Given the description of an element on the screen output the (x, y) to click on. 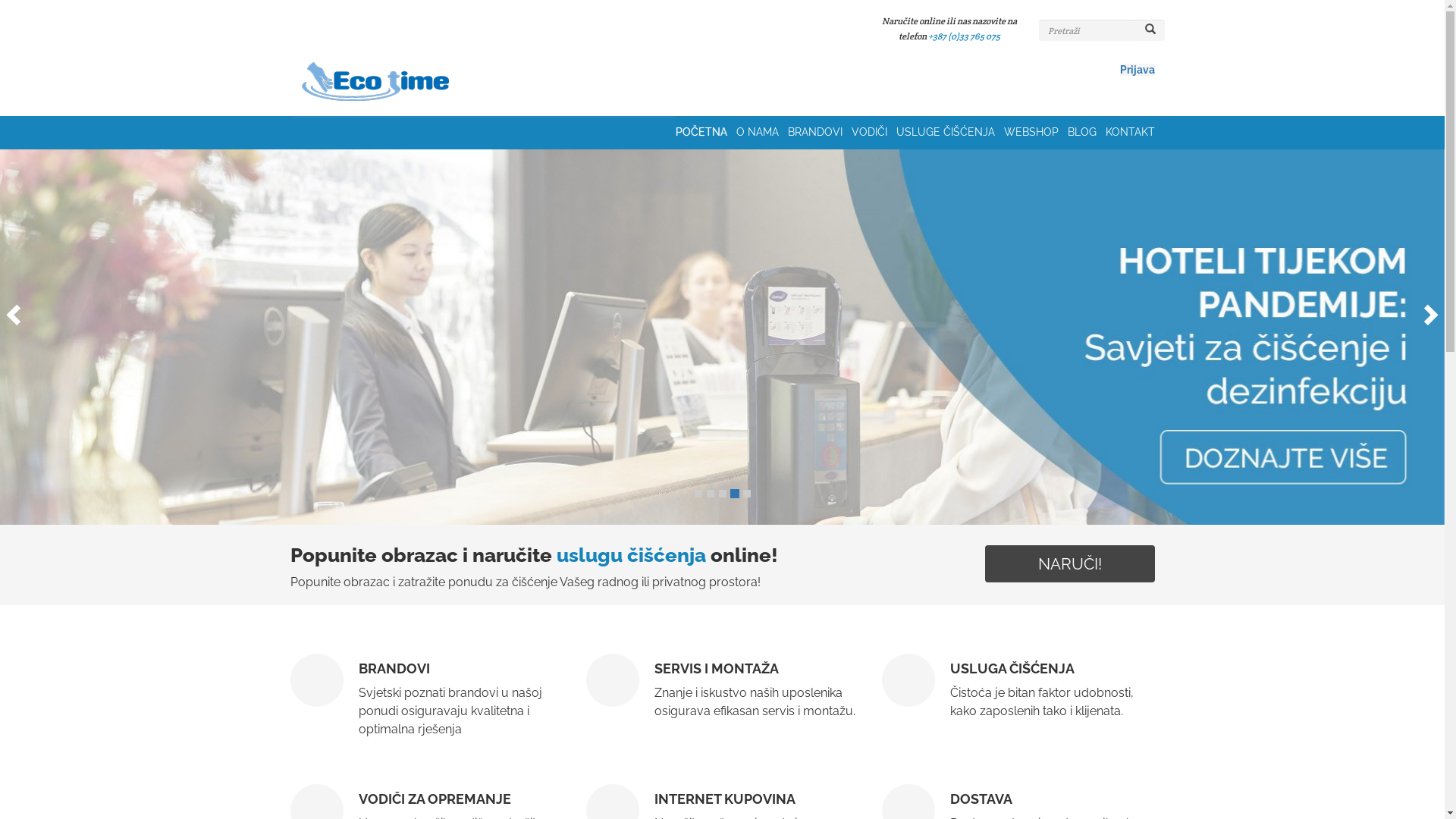
WEBSHOP Element type: text (1035, 132)
O NAMA Element type: text (761, 132)
KONTAKT Element type: text (1129, 132)
Previous Element type: text (11, 309)
Next Element type: text (1432, 309)
BRANDOVI Element type: text (818, 132)
Prijava Element type: text (1136, 69)
BLOG Element type: text (1086, 132)
